Given the description of an element on the screen output the (x, y) to click on. 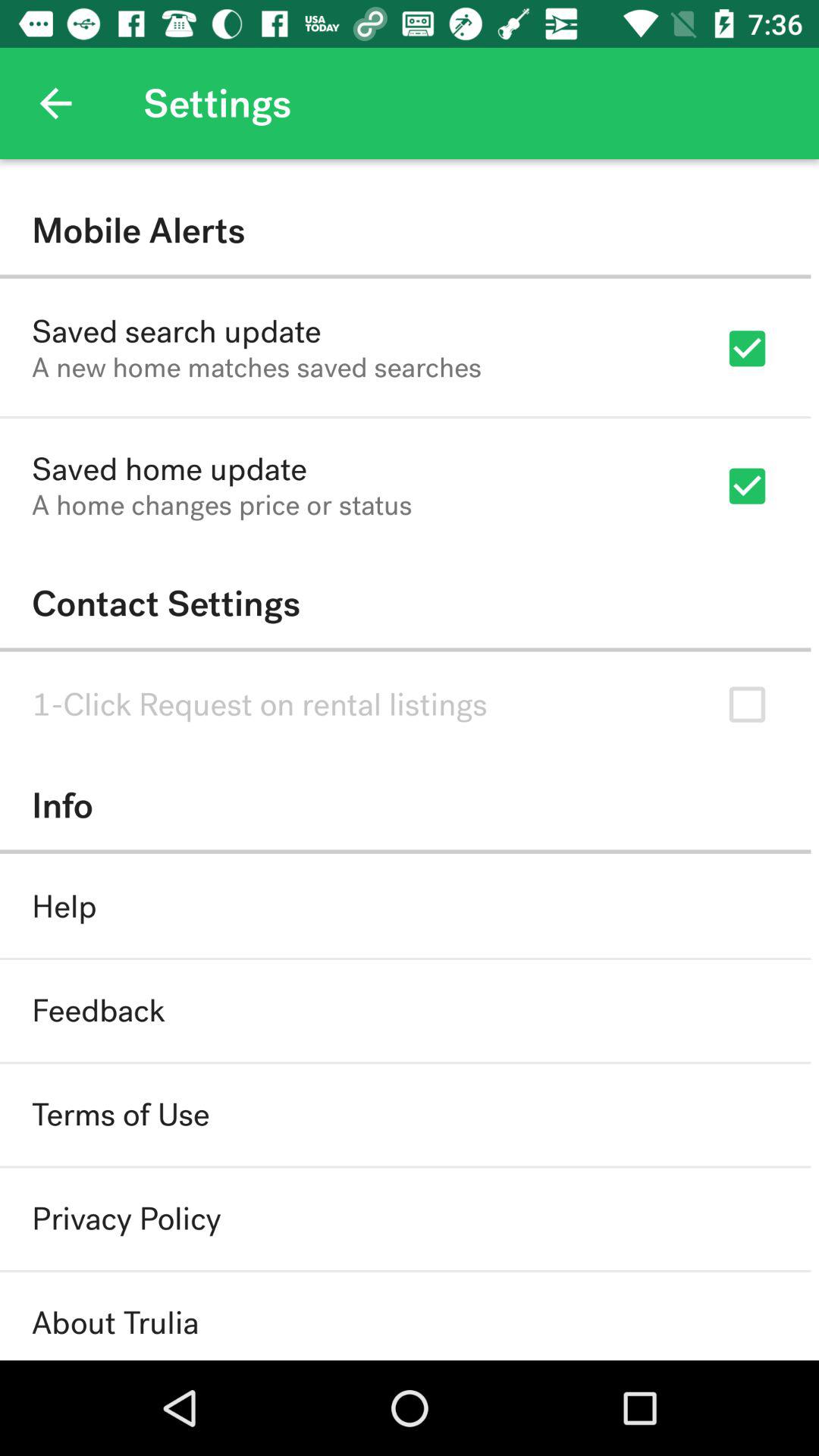
scroll until feedback icon (97, 1010)
